Given the description of an element on the screen output the (x, y) to click on. 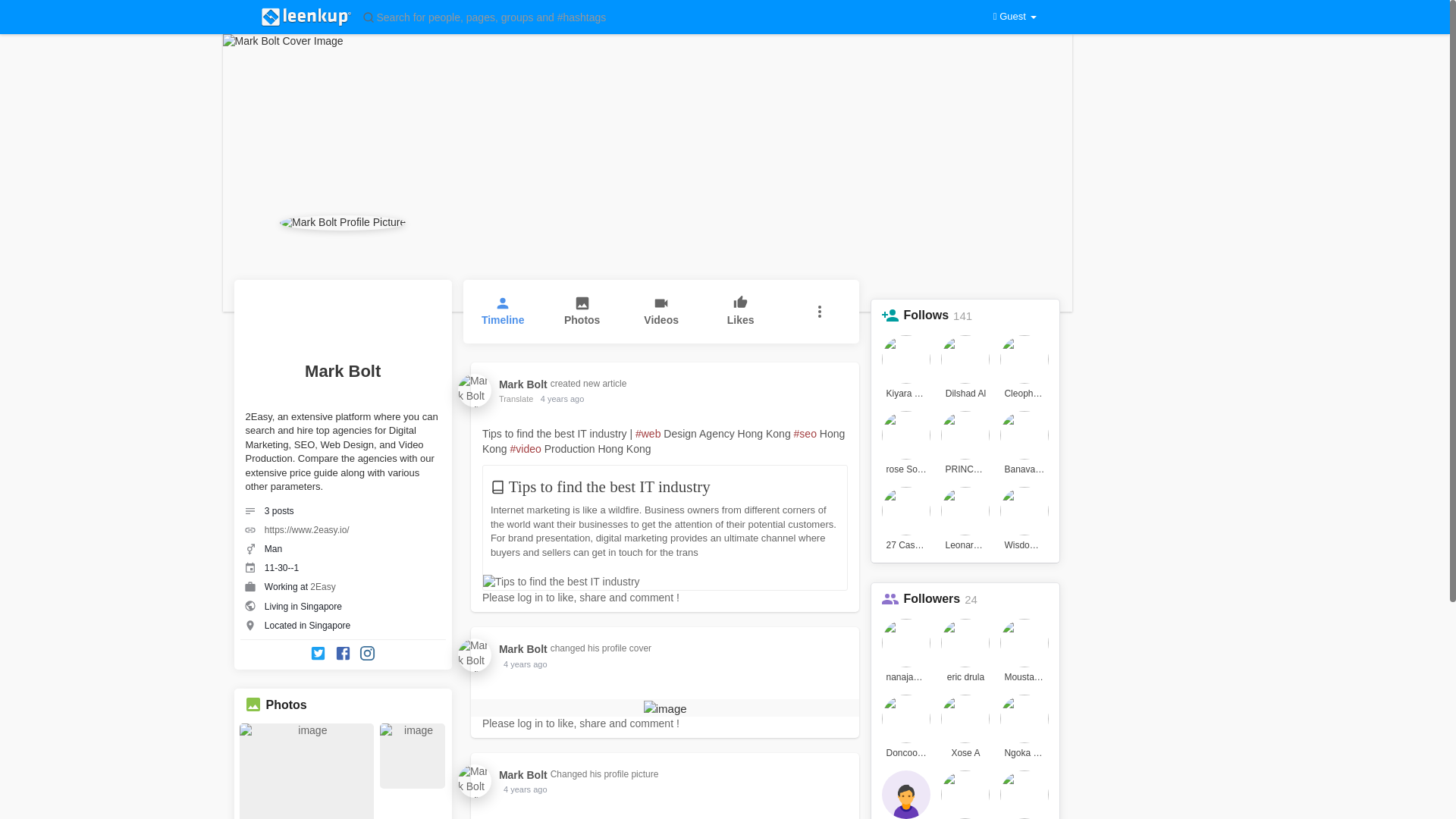
Likes (740, 311)
Please log in to like, share and comment ! (580, 597)
Guest (1014, 17)
4 years ago (525, 664)
Videos (661, 311)
4 years ago (525, 788)
Photos (284, 704)
4 years ago (561, 398)
4 years ago (561, 398)
